Given the description of an element on the screen output the (x, y) to click on. 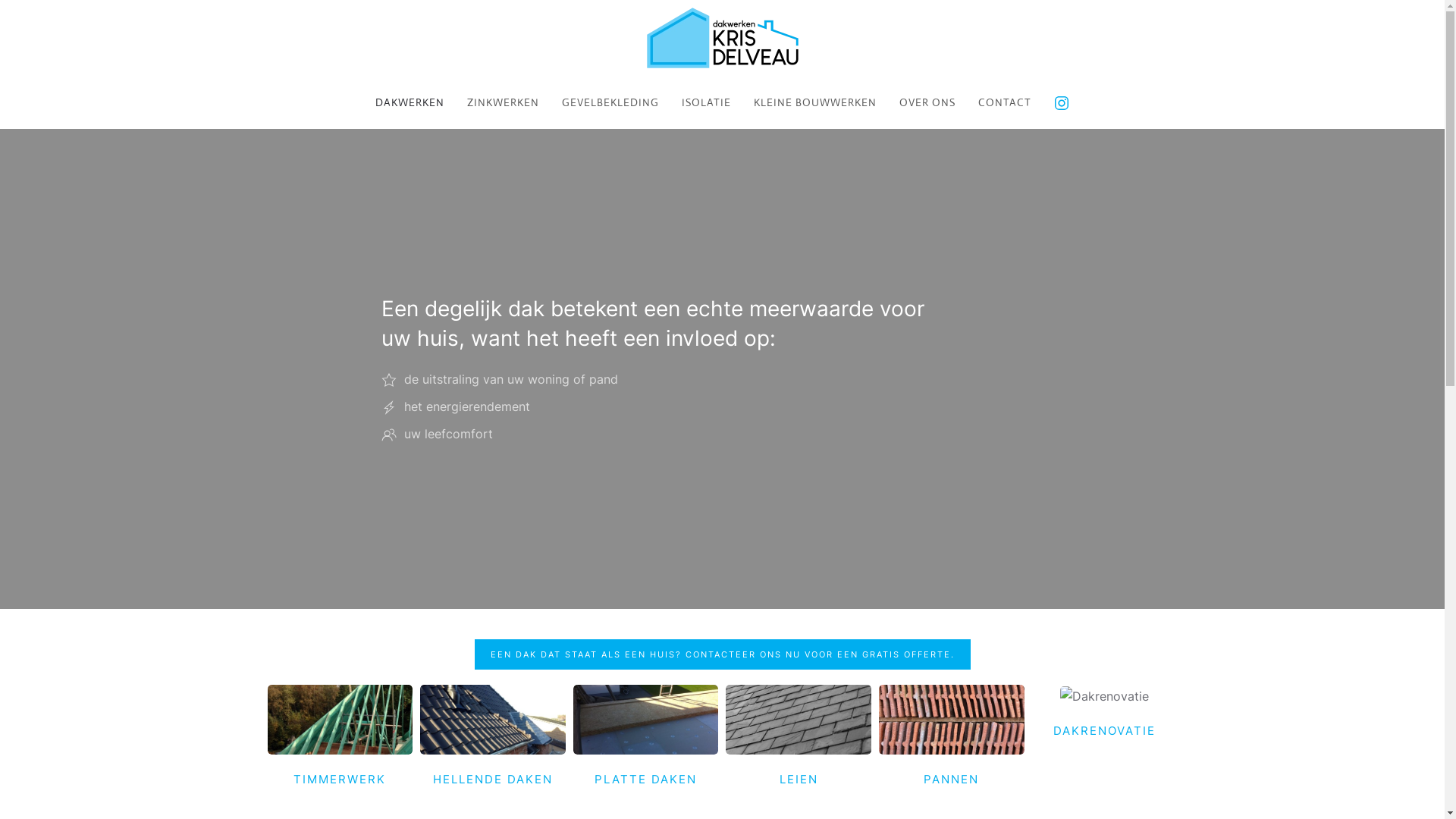
Timmerwerk Element type: hover (339, 719)
PANNEN Element type: text (951, 778)
PLATTE DAKEN Element type: text (645, 778)
CONTACT Element type: text (1004, 101)
OVER ONS Element type: text (927, 101)
DAKRENOVATIE Element type: text (1104, 730)
GEVELBEKLEDING Element type: text (609, 101)
TIMMERWERK Element type: text (339, 778)
Platte daken Element type: hover (645, 719)
Leien Element type: hover (798, 719)
KLEINE BOUWWERKEN Element type: text (814, 101)
ZINKWERKEN Element type: text (503, 101)
DAKWERKEN Element type: text (409, 101)
ISOLATIE Element type: text (706, 101)
Hellende daken Element type: hover (492, 719)
HELLENDE DAKEN Element type: text (492, 778)
LEIEN Element type: text (798, 778)
Pannen Element type: hover (951, 719)
Dakrenovatie Element type: hover (1104, 695)
